Given the description of an element on the screen output the (x, y) to click on. 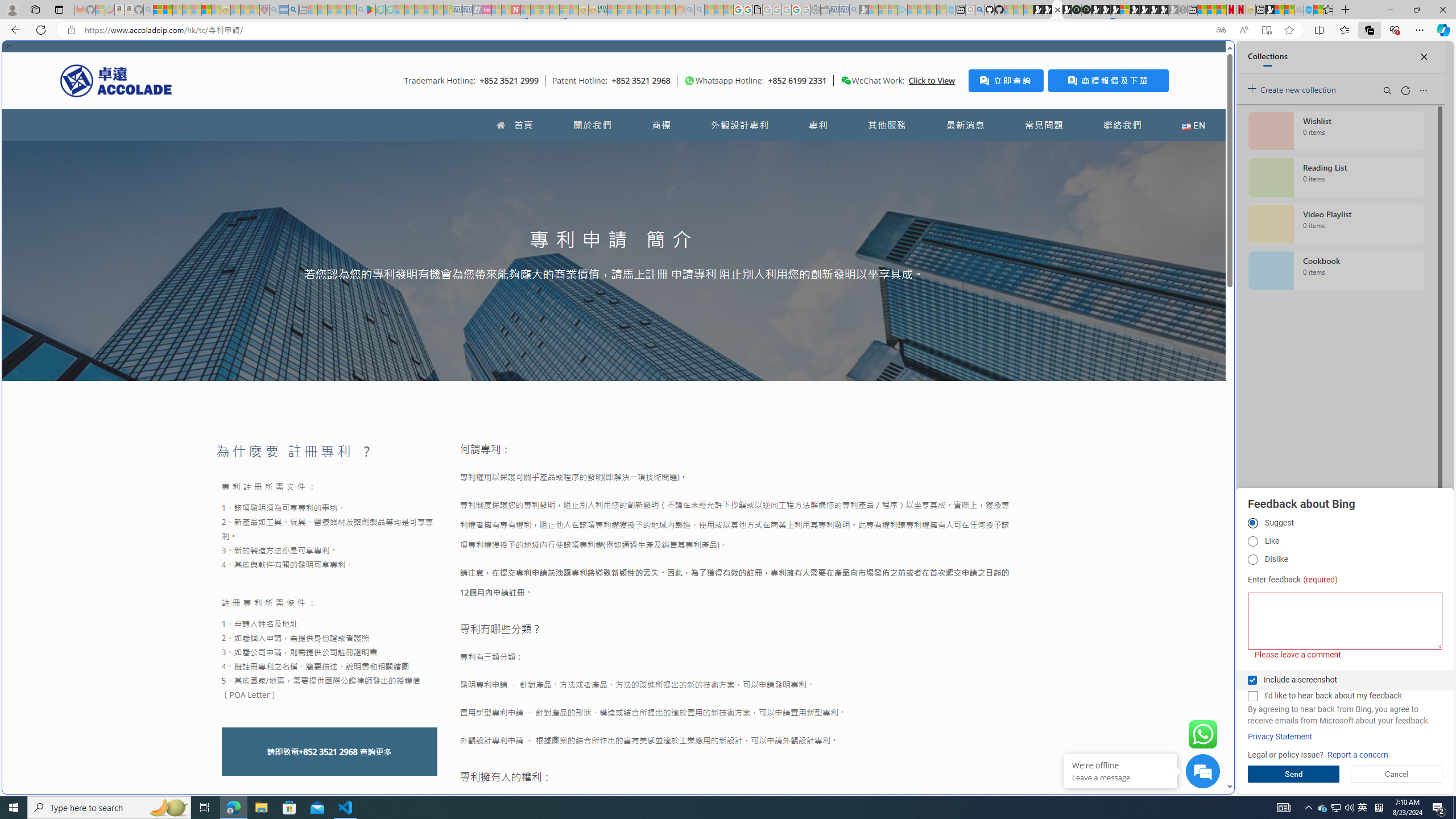
Pets - MSN - Sleeping (340, 9)
Terms of Use Agreement - Sleeping (380, 9)
Cancel (1396, 773)
+852 3521 2968 (328, 751)
Bluey: Let's Play! - Apps on Google Play (370, 9)
